Given the description of an element on the screen output the (x, y) to click on. 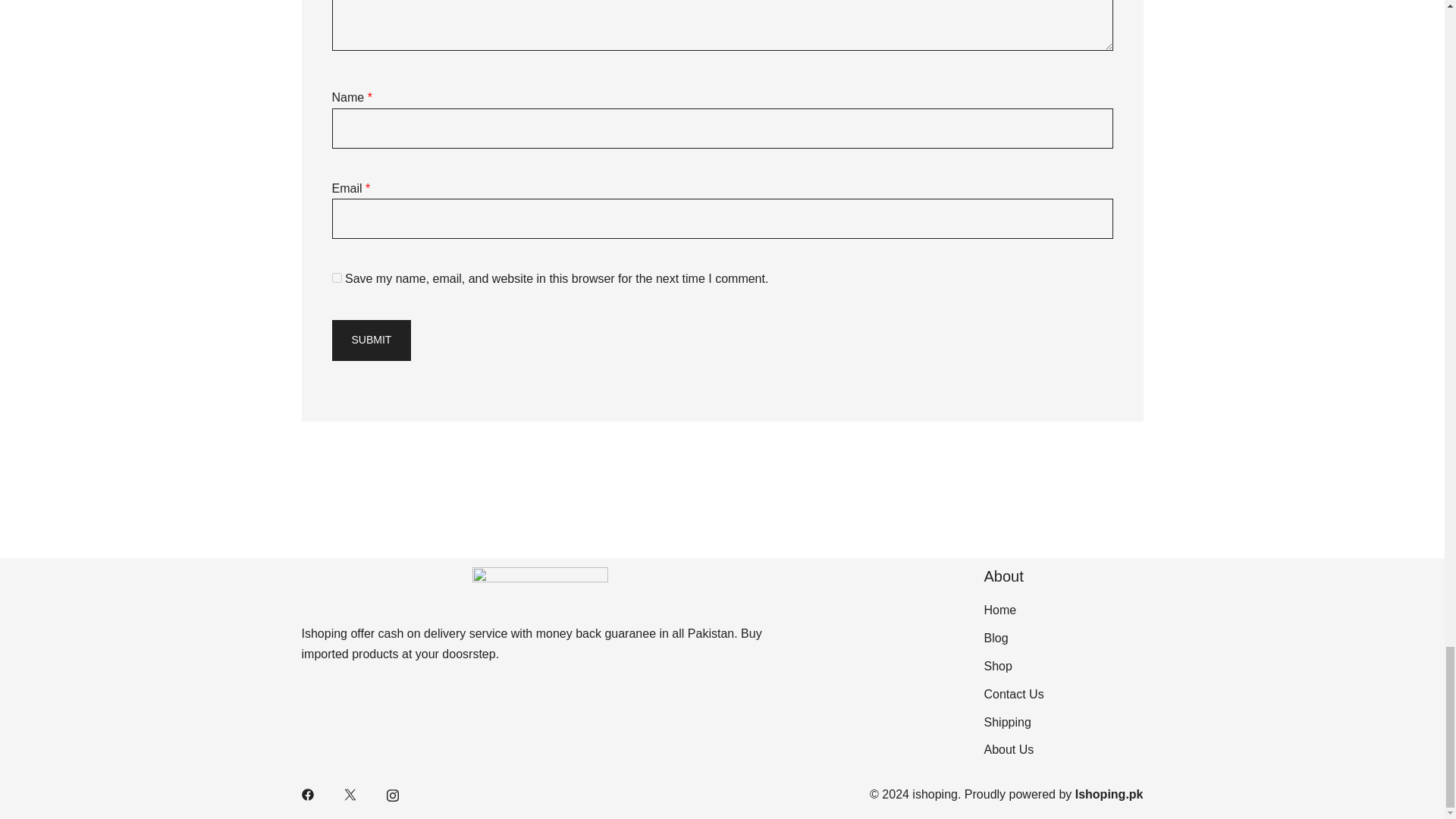
Social network twitter link. (349, 793)
Submit (371, 340)
Social network instagram link. (392, 793)
Home (1000, 609)
Submit (371, 340)
Social network facebook link. (307, 793)
yes (336, 277)
